Given the description of an element on the screen output the (x, y) to click on. 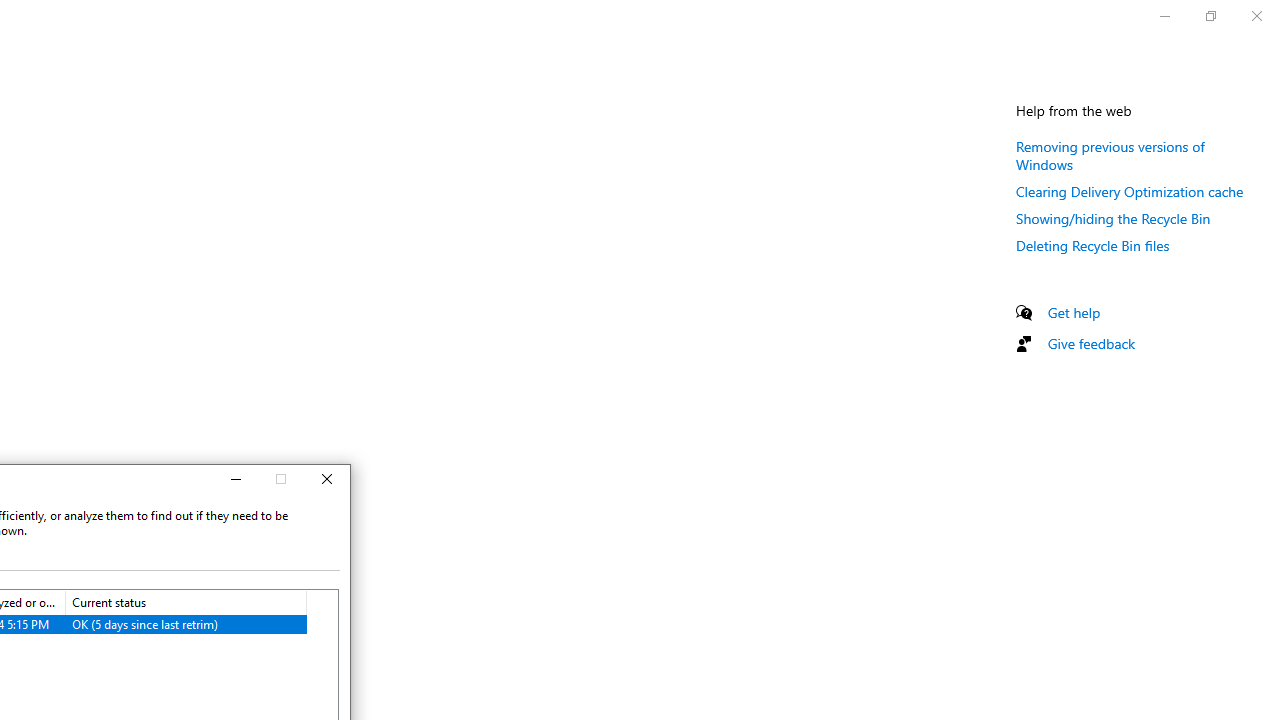
Close (327, 480)
Maximize (281, 480)
Minimize (234, 480)
